Given the description of an element on the screen output the (x, y) to click on. 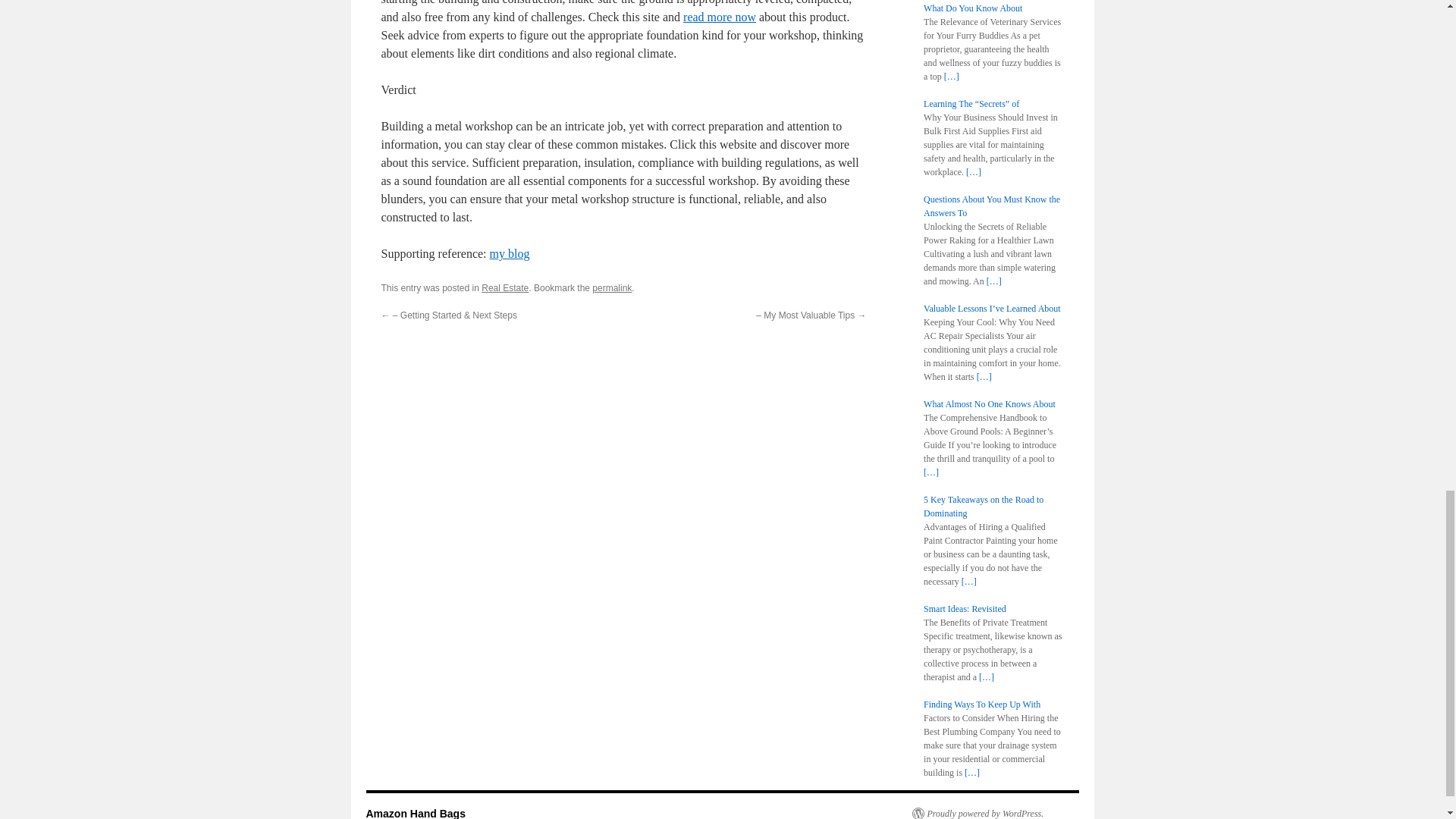
permalink (611, 287)
Real Estate (504, 287)
Permalink to Smart Ideas:  Revisited (611, 287)
my blog (509, 253)
read more now (718, 16)
